Given the description of an element on the screen output the (x, y) to click on. 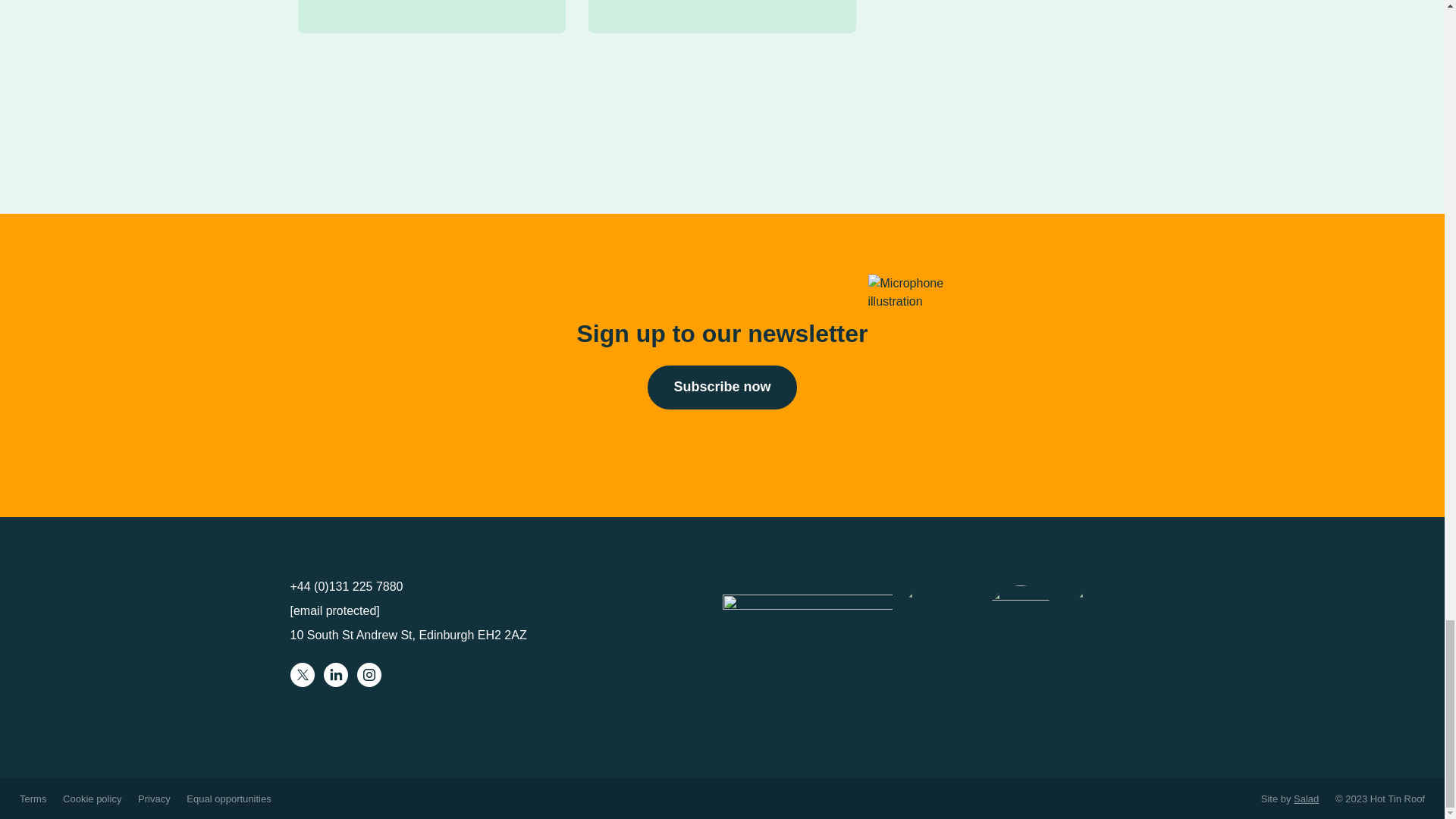
Terms (33, 798)
Subscribe now (721, 387)
10 South St Andrew St, Edinburgh EH2 2AZ (407, 634)
